Given the description of an element on the screen output the (x, y) to click on. 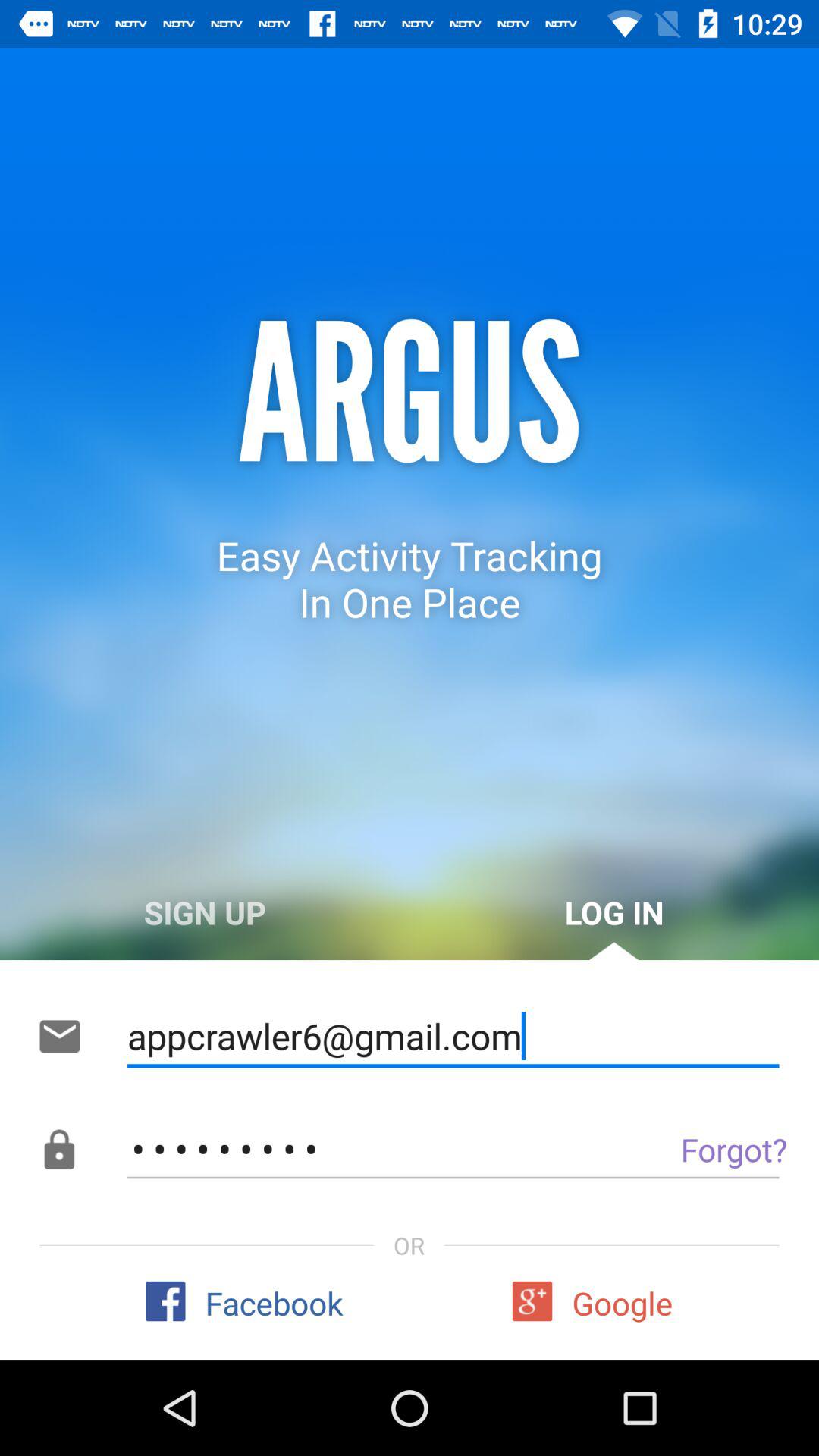
tap item to the left of log in icon (204, 912)
